Given the description of an element on the screen output the (x, y) to click on. 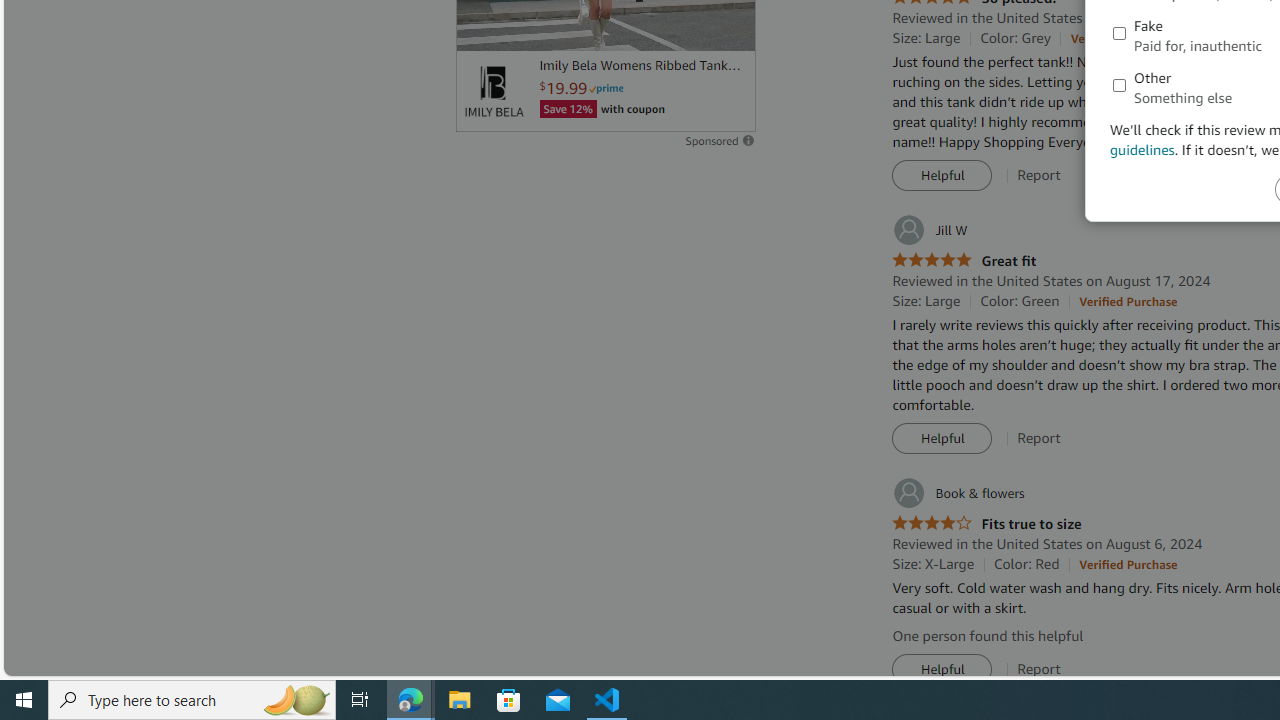
5.0 out of 5 stars Great fit (964, 260)
Jill W (929, 230)
Verified Purchase (1128, 564)
Unmute (729, 27)
4.0 out of 5 stars Fits true to size (986, 524)
Helpful (942, 669)
Report (1039, 669)
Pause (481, 27)
Book & flowers (958, 493)
Logo (493, 91)
Prime (605, 88)
